Given the description of an element on the screen output the (x, y) to click on. 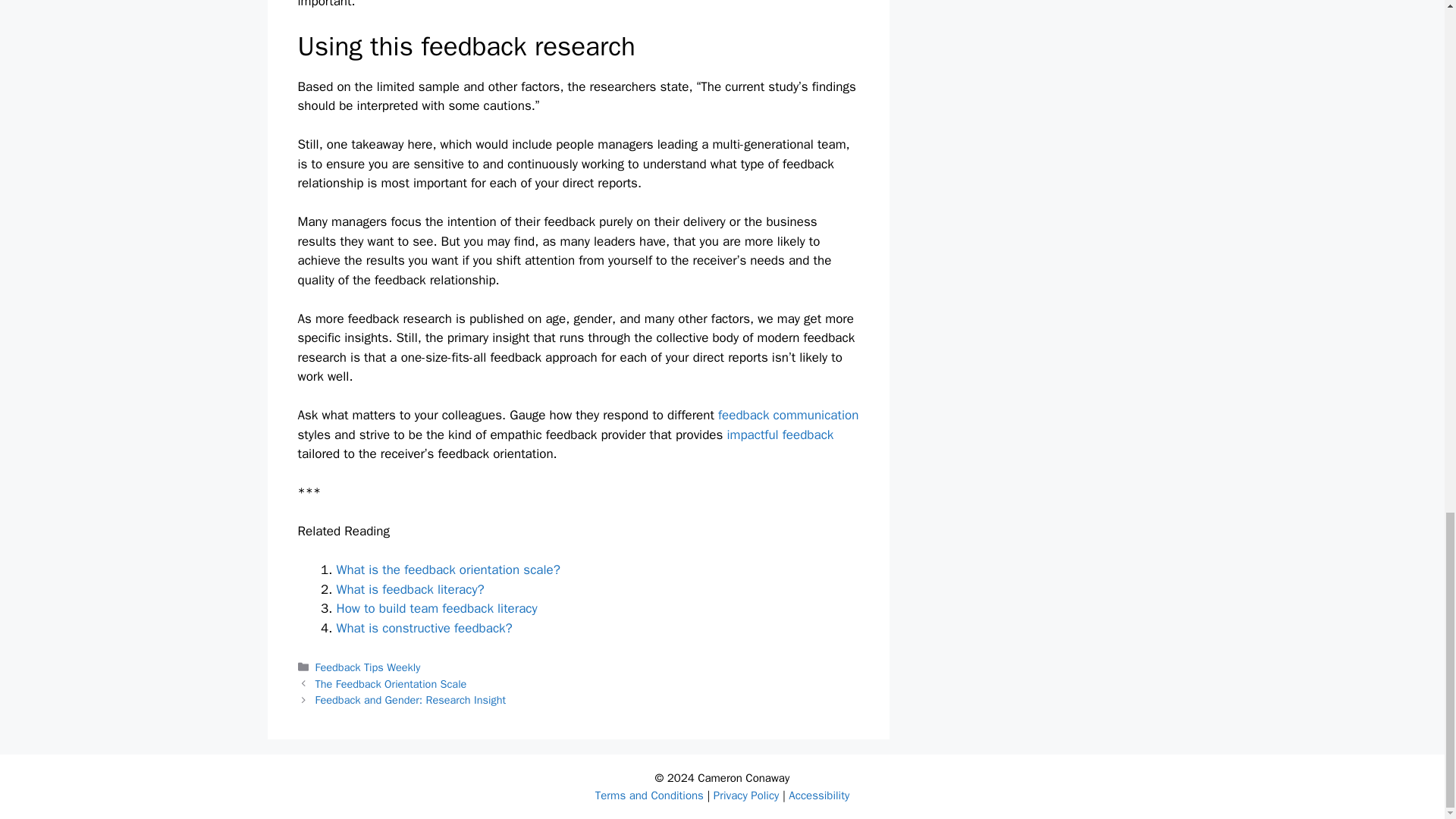
Accessibility (818, 794)
What is constructive feedback? (424, 627)
Privacy Policy (745, 794)
Feedback and Gender: Research Insight (410, 699)
How to build team feedback literacy (436, 608)
What is the feedback orientation scale? (448, 569)
What is feedback literacy? (410, 589)
Scroll back to top (1406, 146)
feedback communication (788, 415)
Terms and Conditions (649, 794)
Feedback Tips Weekly (367, 667)
impactful feedback (779, 434)
The Feedback Orientation Scale (391, 684)
